Given the description of an element on the screen output the (x, y) to click on. 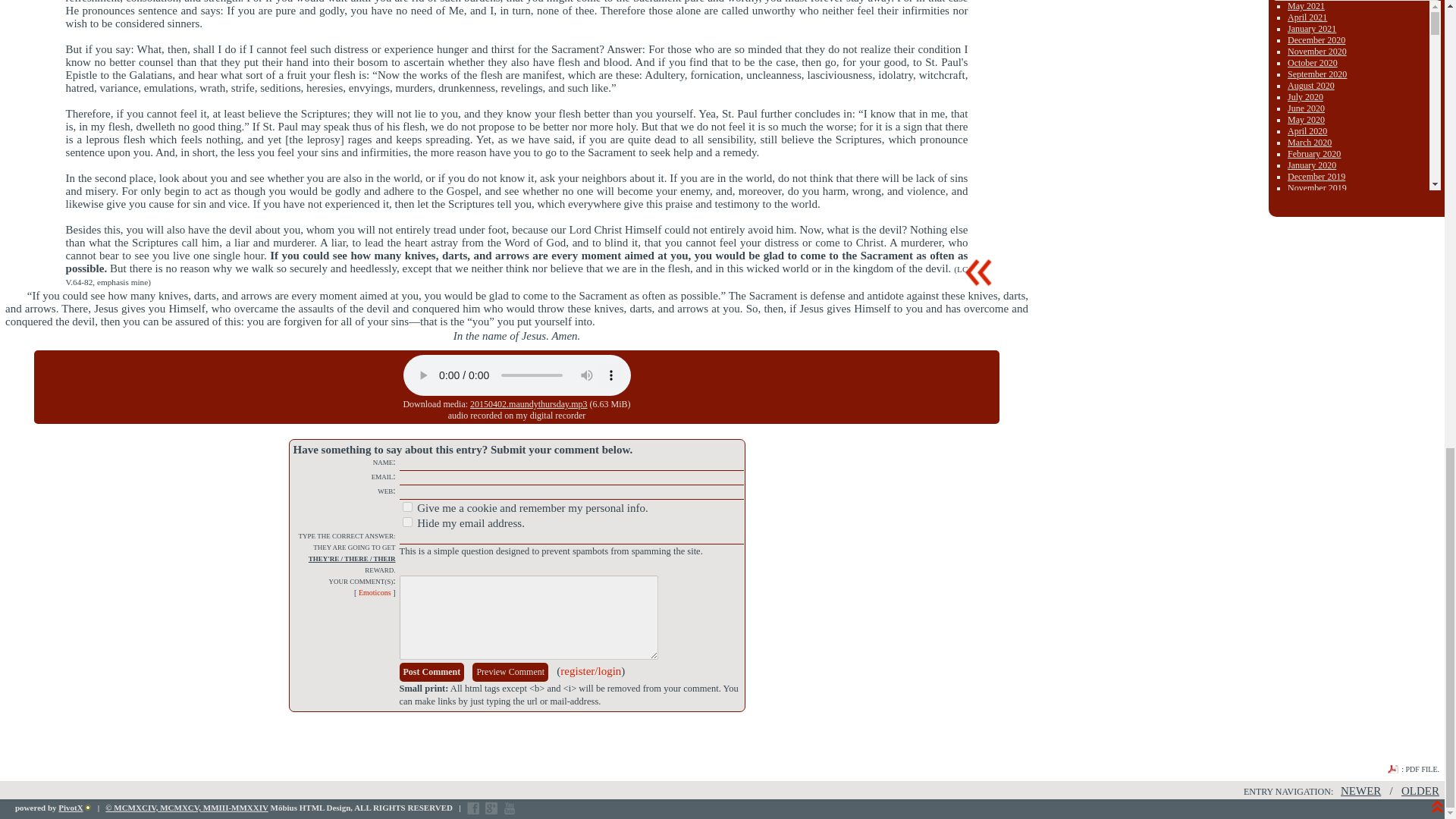
Post Comment (431, 671)
1 (406, 506)
Preview Comment (509, 671)
1 (406, 521)
